Given the description of an element on the screen output the (x, y) to click on. 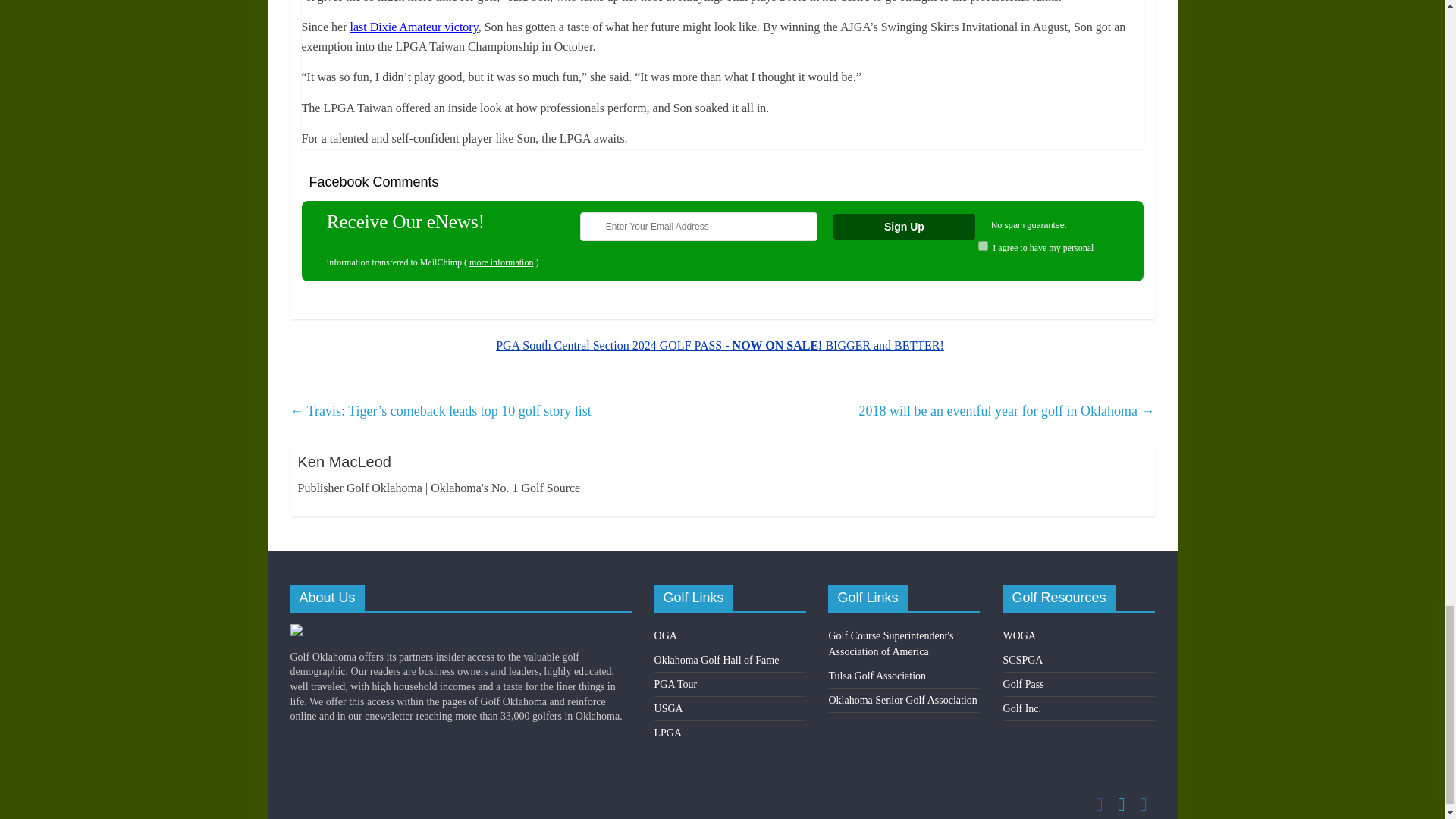
on (983, 245)
Sign Up (903, 226)
